Given the description of an element on the screen output the (x, y) to click on. 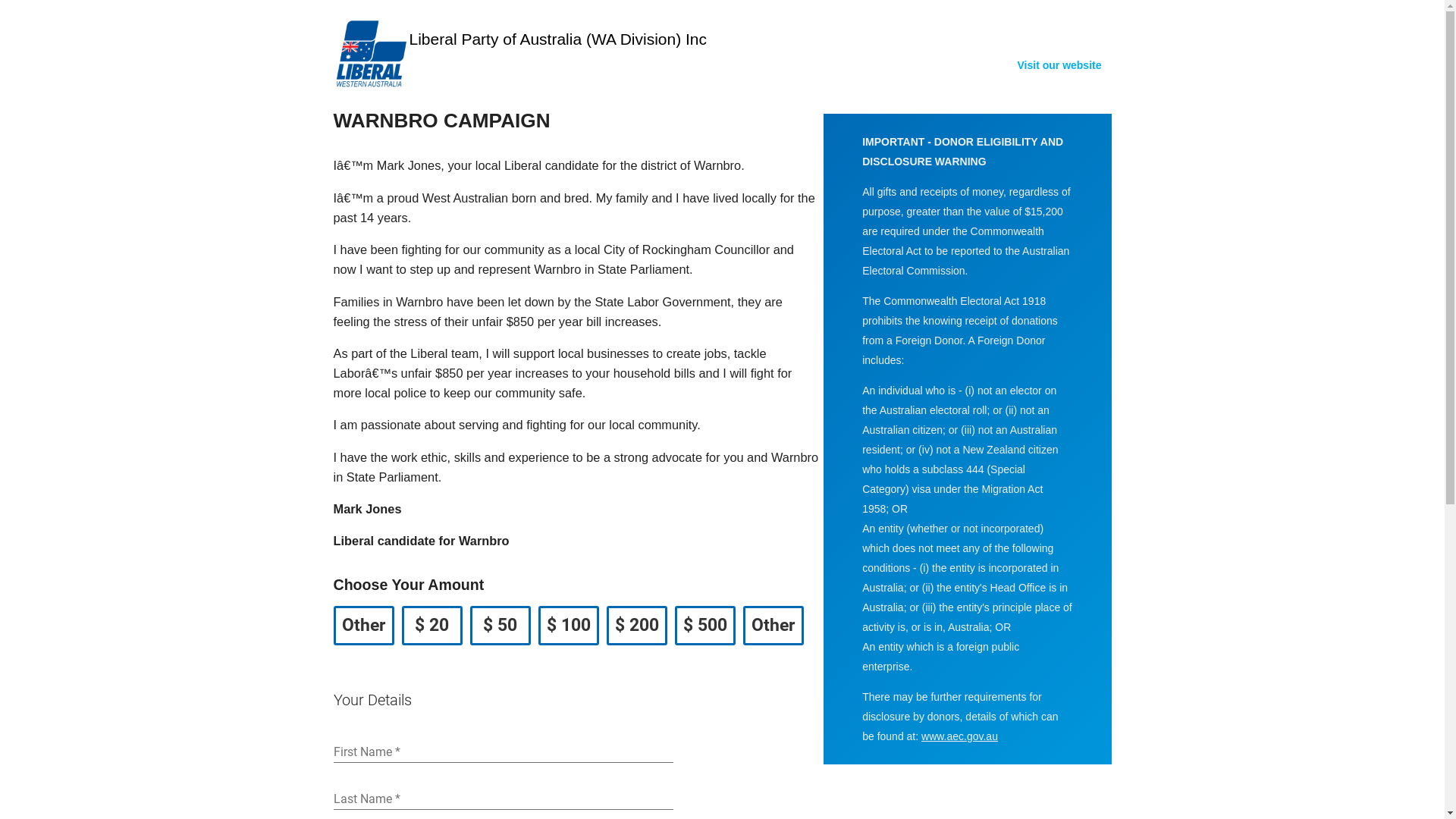
www.aec.gov.au Element type: text (959, 736)
Visit our website Element type: text (1059, 65)
